Given the description of an element on the screen output the (x, y) to click on. 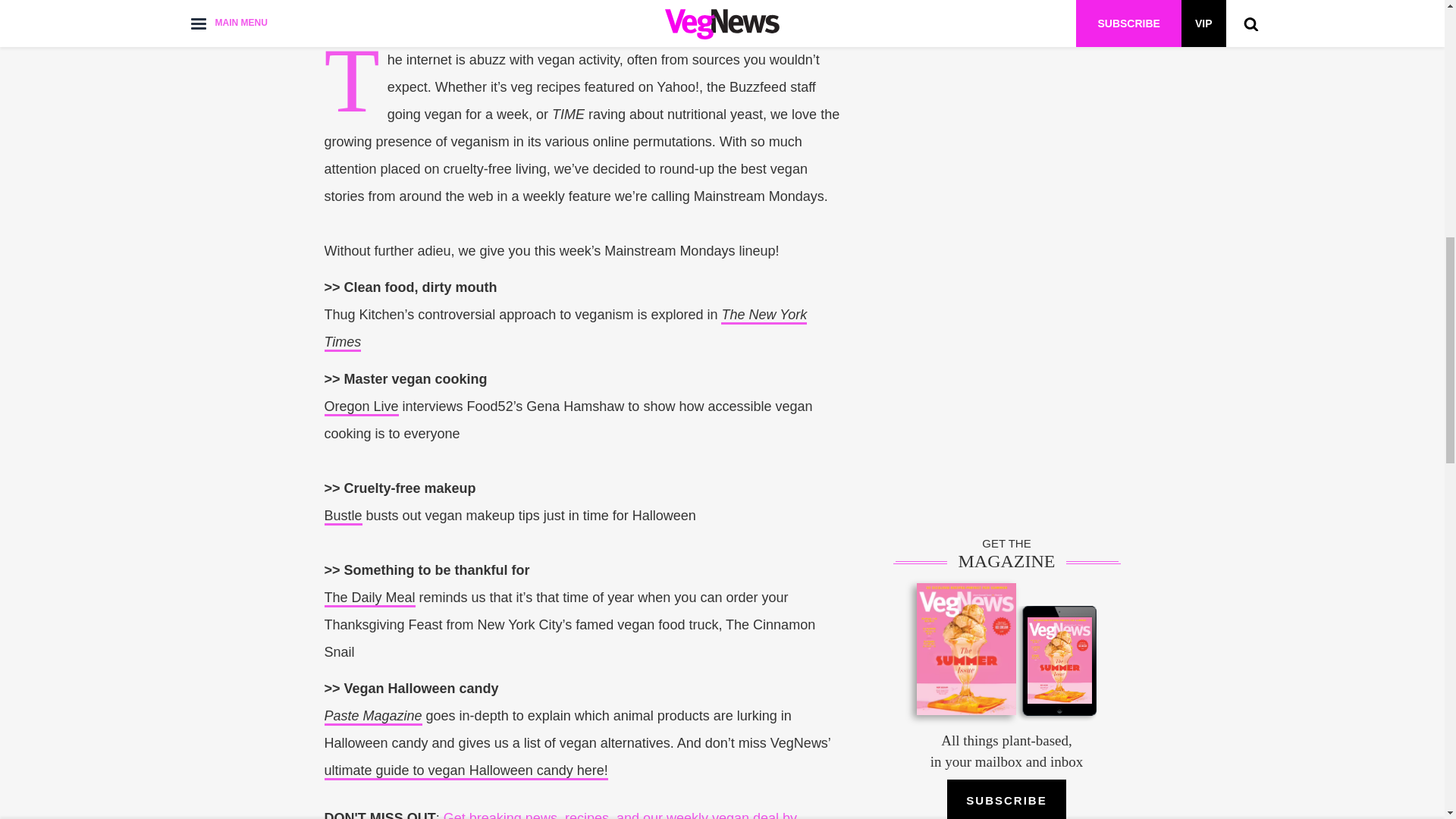
Share article via email (658, 4)
Share article on Facebook (572, 4)
Share article on Pinterest (628, 4)
Share article on Twitter (598, 4)
